Given the description of an element on the screen output the (x, y) to click on. 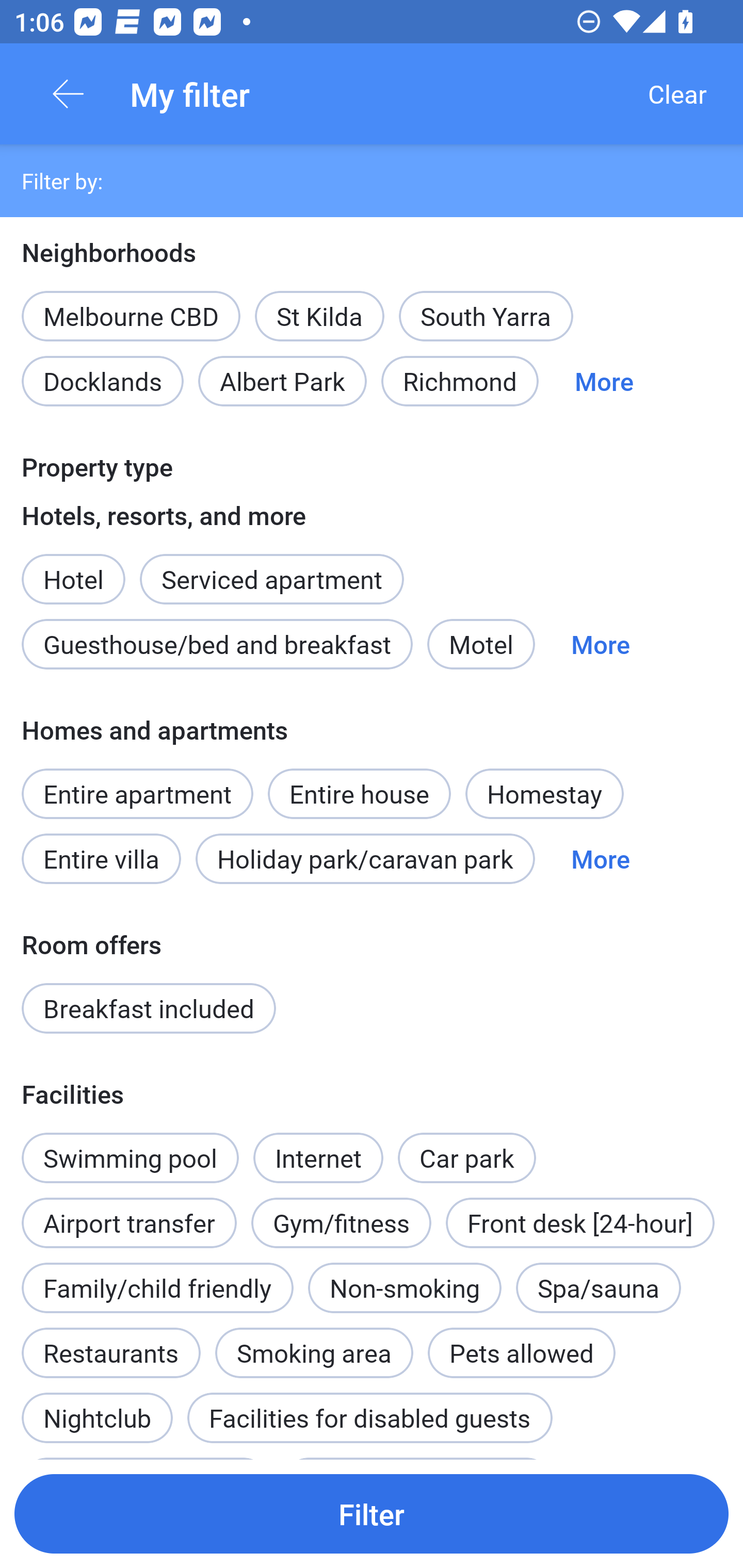
Clear (676, 93)
Melbourne CBD (130, 315)
St Kilda (319, 315)
South Yarra (485, 315)
Docklands (102, 380)
Albert Park (282, 380)
Richmond (459, 380)
More (603, 380)
Hotel (73, 568)
Serviced apartment (271, 568)
Guesthouse/bed and breakfast (217, 643)
Motel (480, 643)
More (600, 643)
Entire apartment (137, 794)
Entire house (359, 783)
Homestay (544, 794)
Entire villa (101, 858)
Holiday park/caravan park (364, 858)
More (600, 858)
Breakfast included (148, 1008)
Swimming pool (130, 1157)
Internet (318, 1146)
Car park (466, 1157)
Airport transfer (129, 1211)
Gym/fitness (341, 1222)
Front desk [24-hour] (579, 1222)
Family/child friendly (157, 1287)
Non-smoking (404, 1287)
Spa/sauna (598, 1287)
Restaurants (110, 1352)
Smoking area (314, 1342)
Pets allowed (521, 1352)
Nightclub (97, 1407)
Facilities for disabled guests (369, 1417)
Filter (371, 1513)
